Given the description of an element on the screen output the (x, y) to click on. 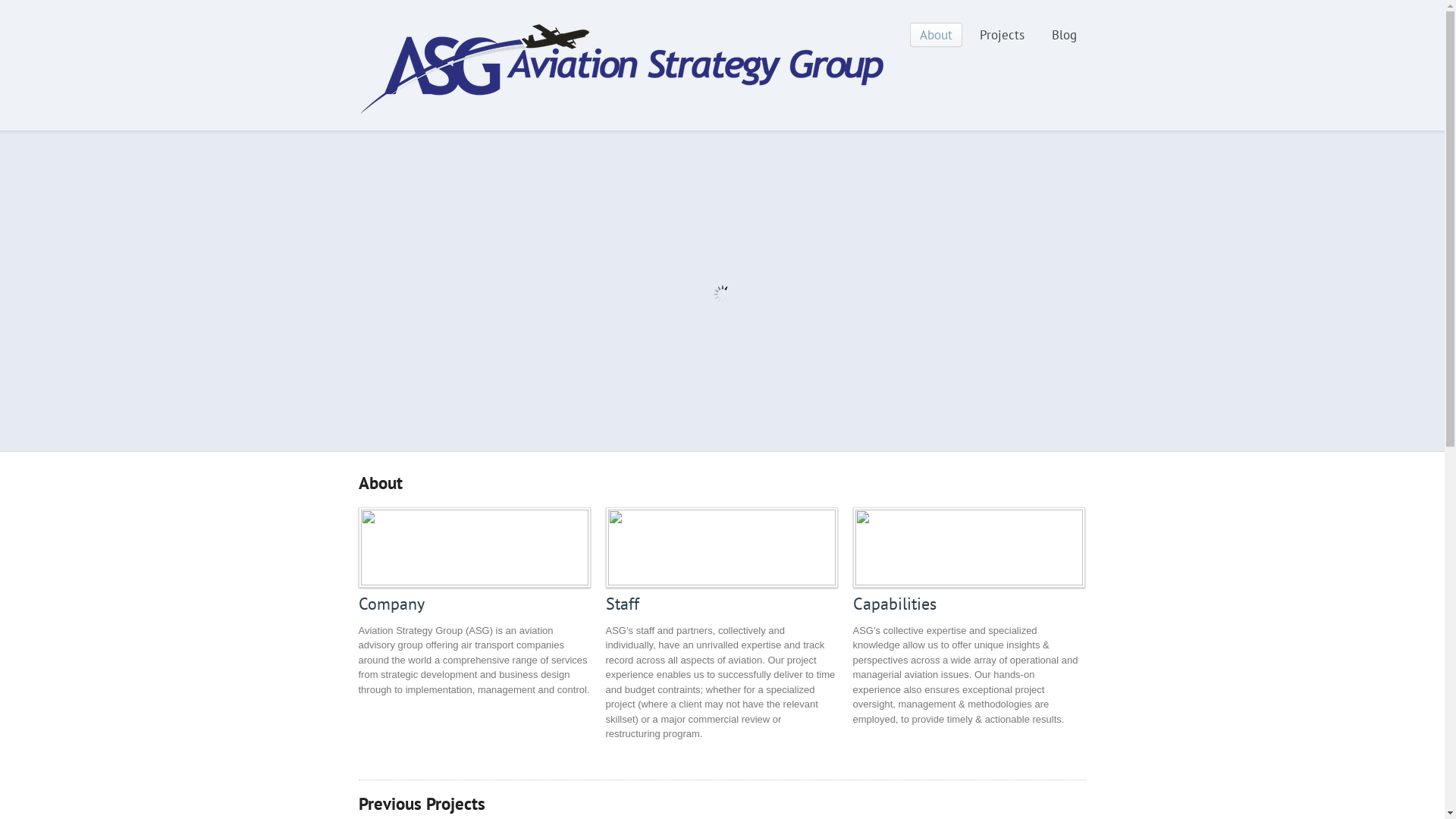
Blog Element type: text (1063, 34)
5 Element type: text (753, 438)
Company Element type: text (390, 603)
Aviation Strategy & Consulting Group Element type: hover (620, 111)
Staff Element type: hover (721, 547)
4 Element type: text (738, 438)
Projects Element type: text (1001, 34)
3 Element type: text (723, 438)
1 Element type: text (693, 438)
About Element type: text (936, 34)
Capabilities Element type: text (893, 603)
Staff Element type: text (621, 603)
Capabilities Element type: hover (968, 547)
Company Element type: hover (473, 547)
2 Element type: text (708, 438)
